Given the description of an element on the screen output the (x, y) to click on. 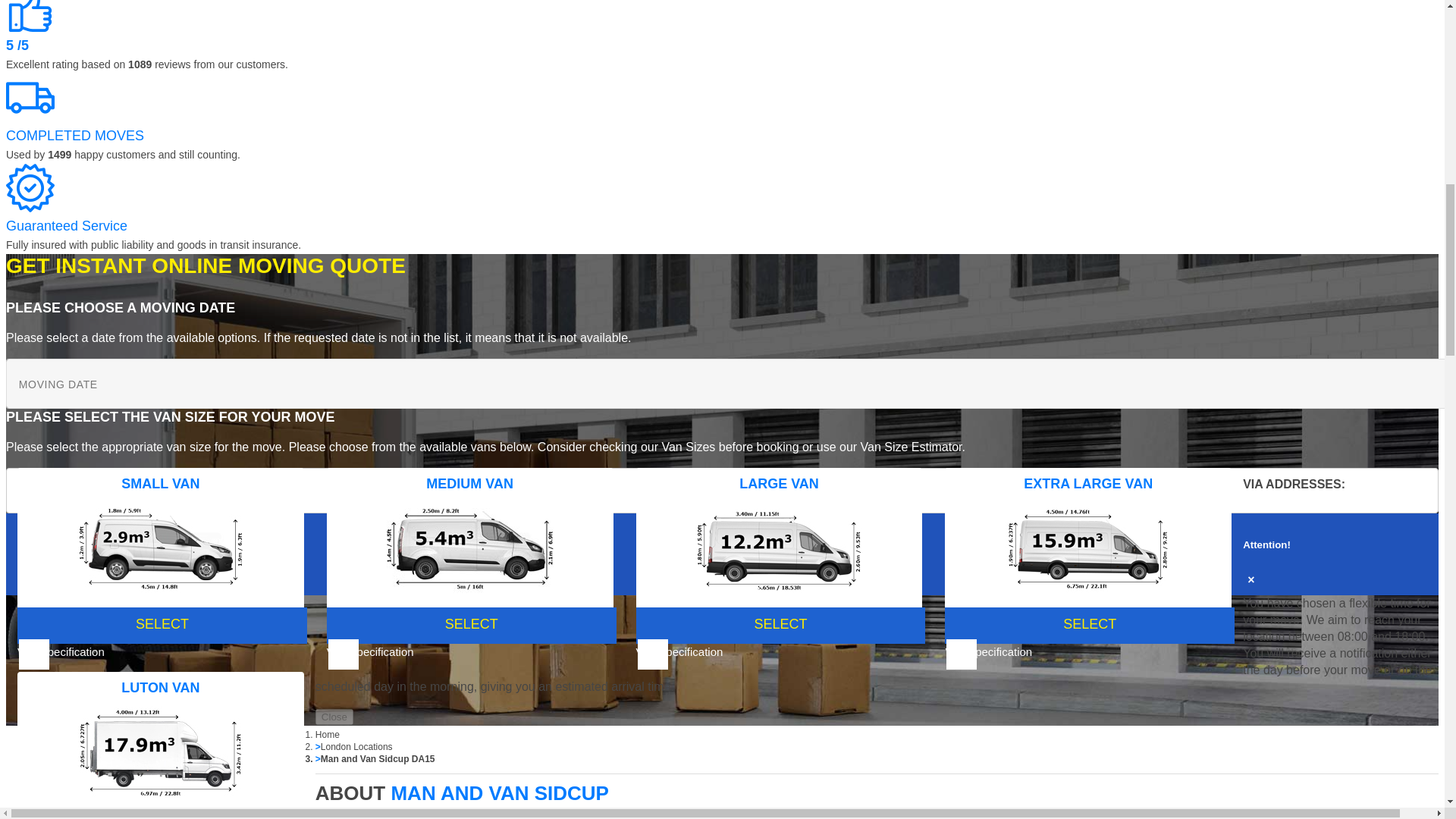
Close (334, 716)
Customer Rating for MAN VAN BIZ services (30, 15)
London Locations (356, 747)
Man and Van Sidcup DA15 (377, 758)
Home (327, 734)
